Given the description of an element on the screen output the (x, y) to click on. 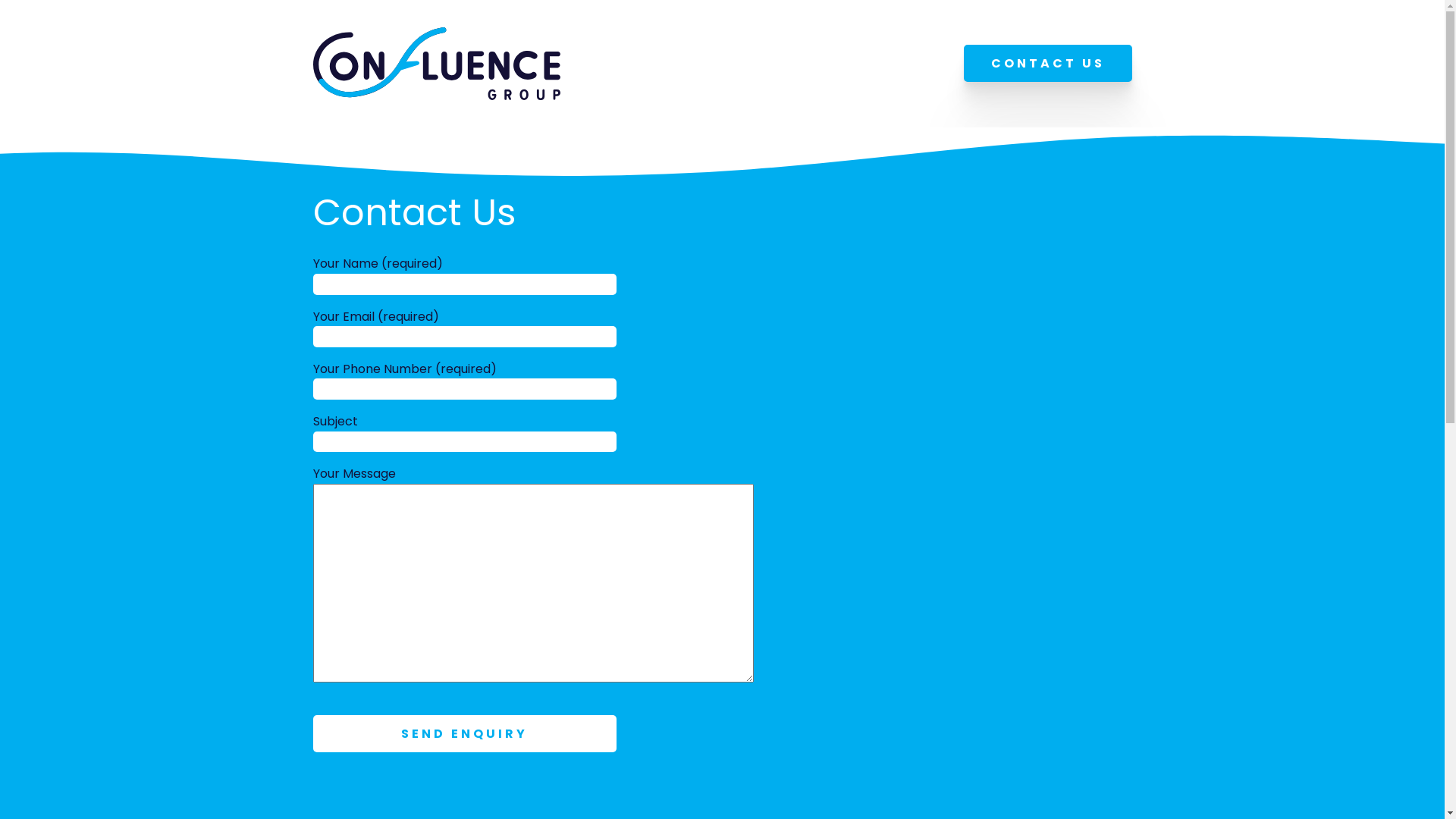
CONTACT US Element type: text (1047, 62)
Send Enquiry Element type: text (463, 733)
